Given the description of an element on the screen output the (x, y) to click on. 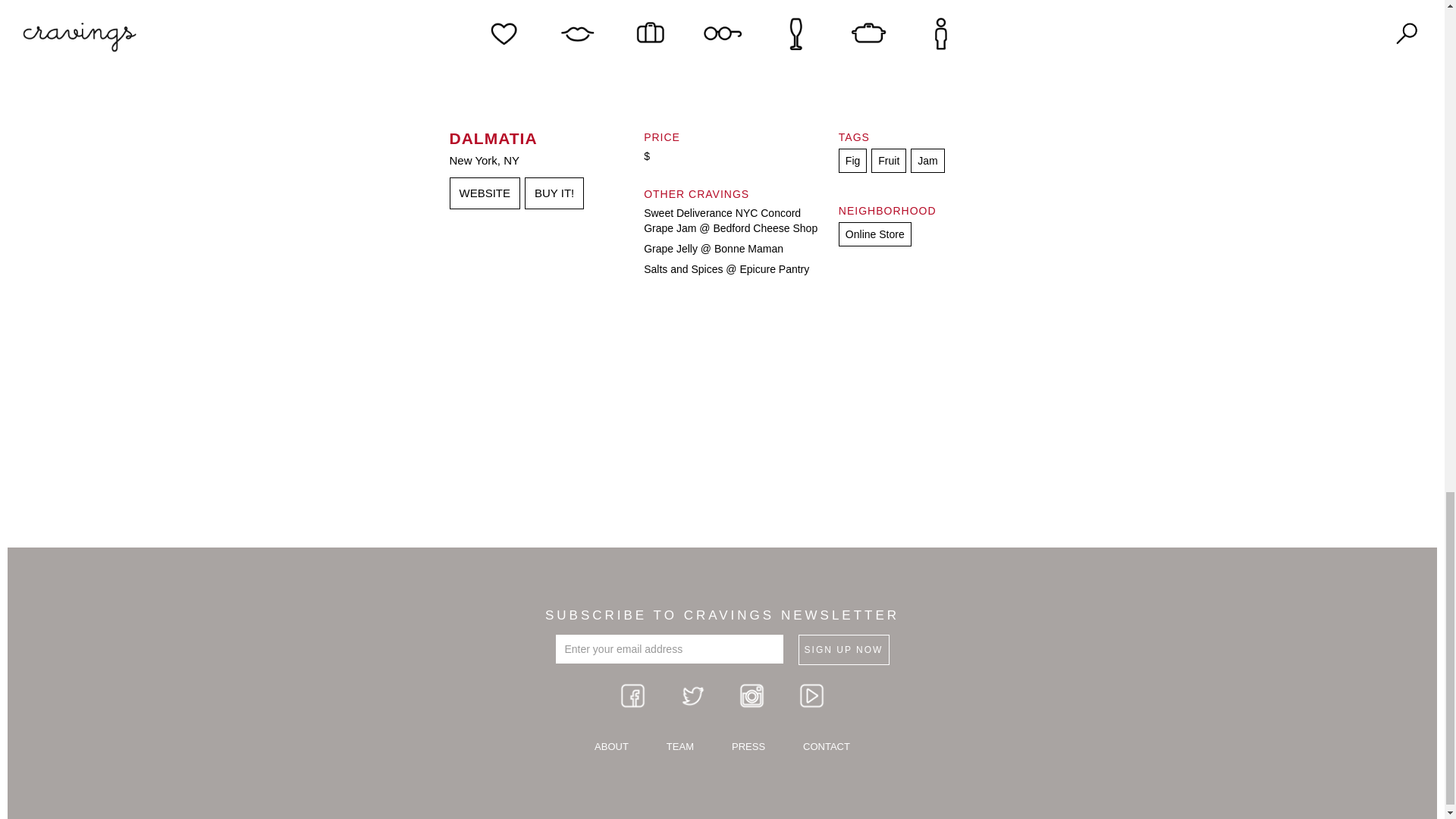
PRESS (748, 747)
Online Store (874, 233)
Sign Up Now (842, 649)
Jam (927, 160)
CONTACT (826, 747)
Sign Up Now (842, 649)
BUY IT! (553, 193)
Fruit (887, 160)
ABOUT (611, 747)
WEBSITE (483, 193)
TEAM (679, 747)
Fig (852, 160)
